Given the description of an element on the screen output the (x, y) to click on. 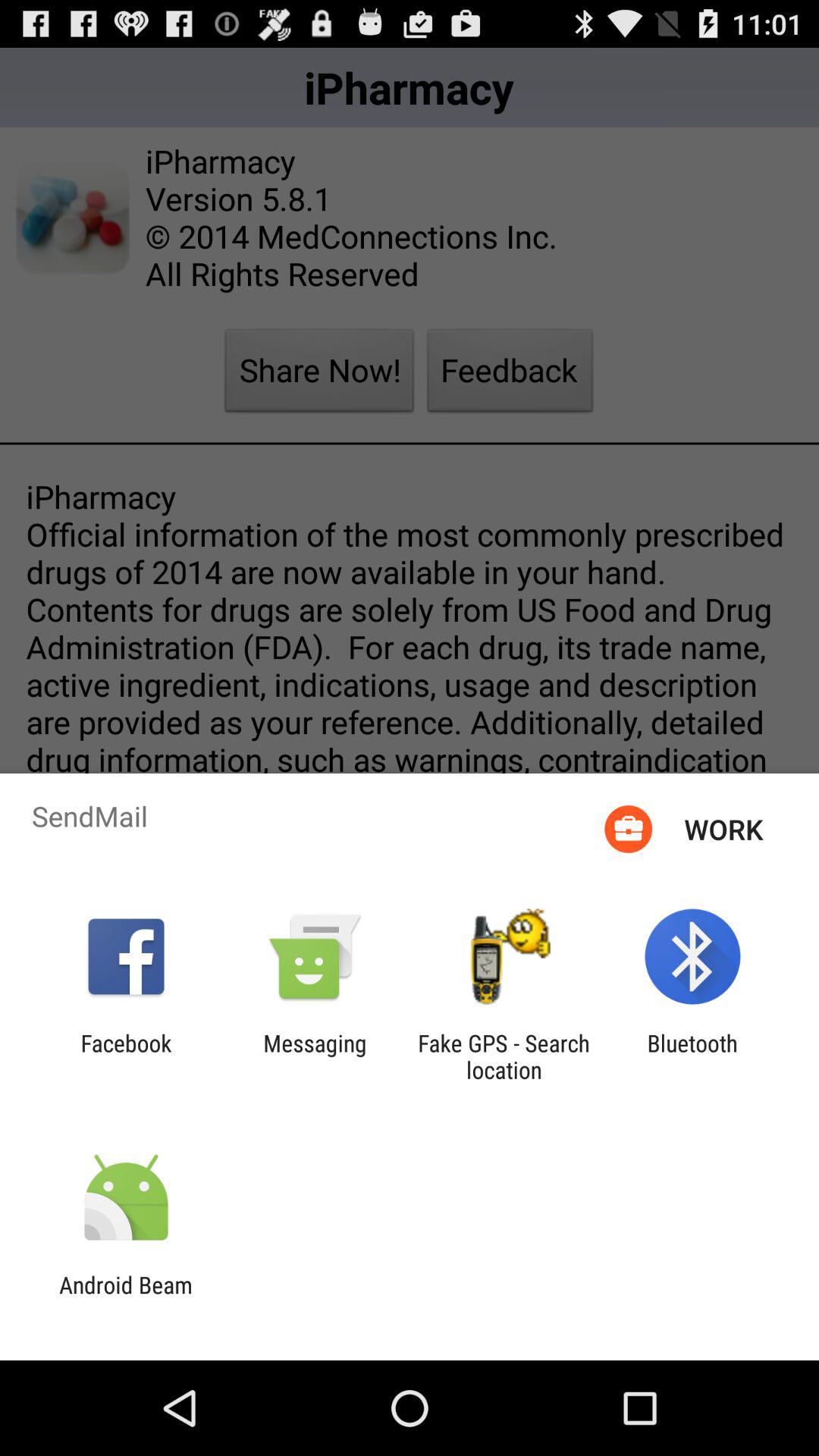
select the android beam icon (125, 1298)
